Given the description of an element on the screen output the (x, y) to click on. 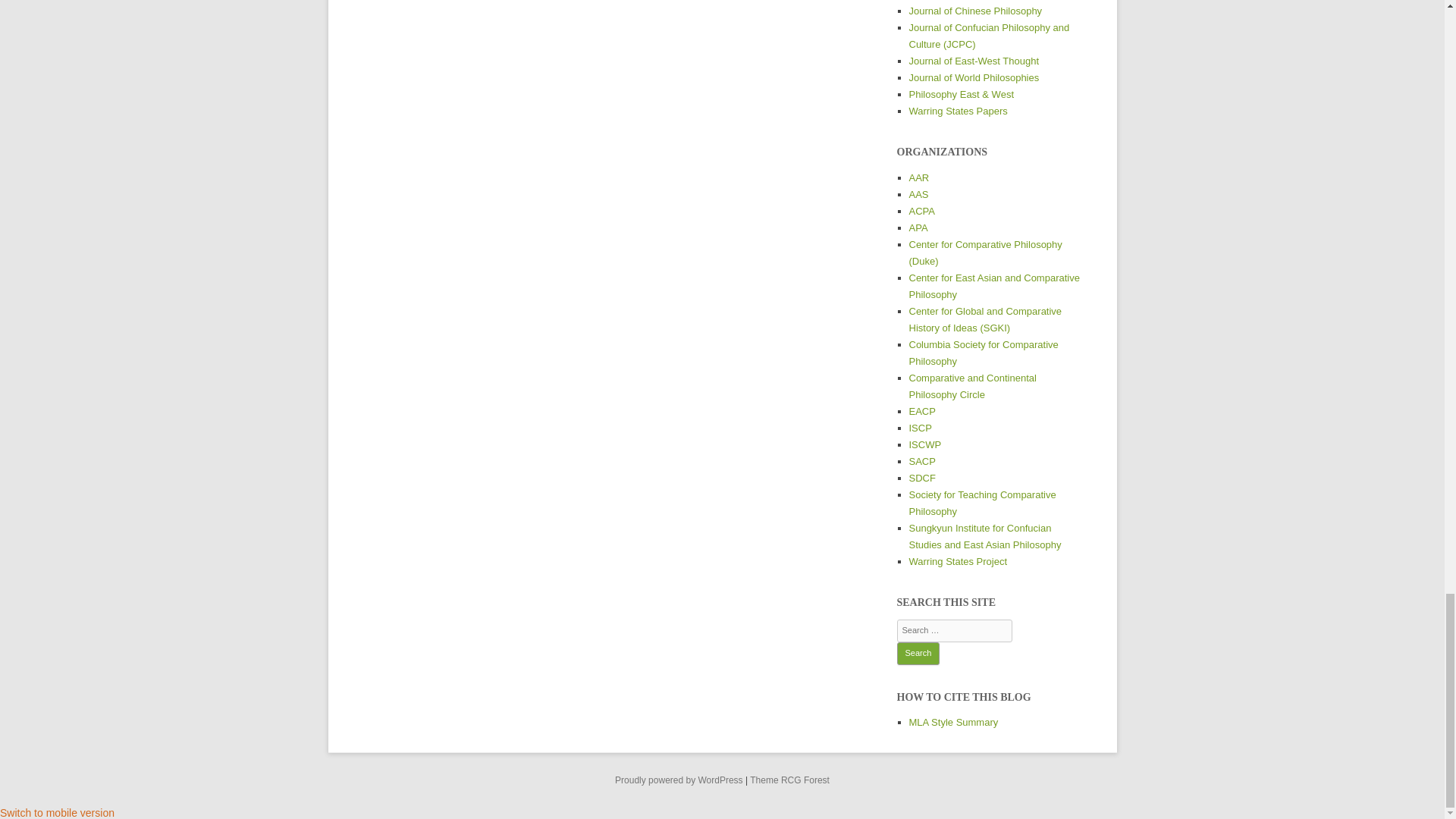
American Academy of Religion (918, 177)
Semantic Personal Publishing Platform (678, 779)
European Association for Chinese Philosophy (921, 410)
Sinological Development Charitable Foundation (921, 478)
Search (917, 653)
Search (917, 653)
